Given the description of an element on the screen output the (x, y) to click on. 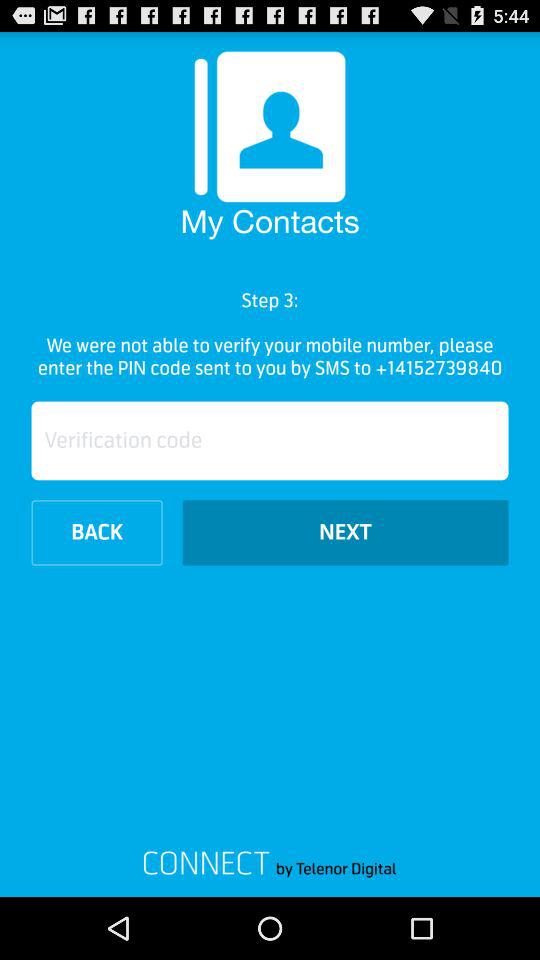
press item to the left of the next item (96, 532)
